Given the description of an element on the screen output the (x, y) to click on. 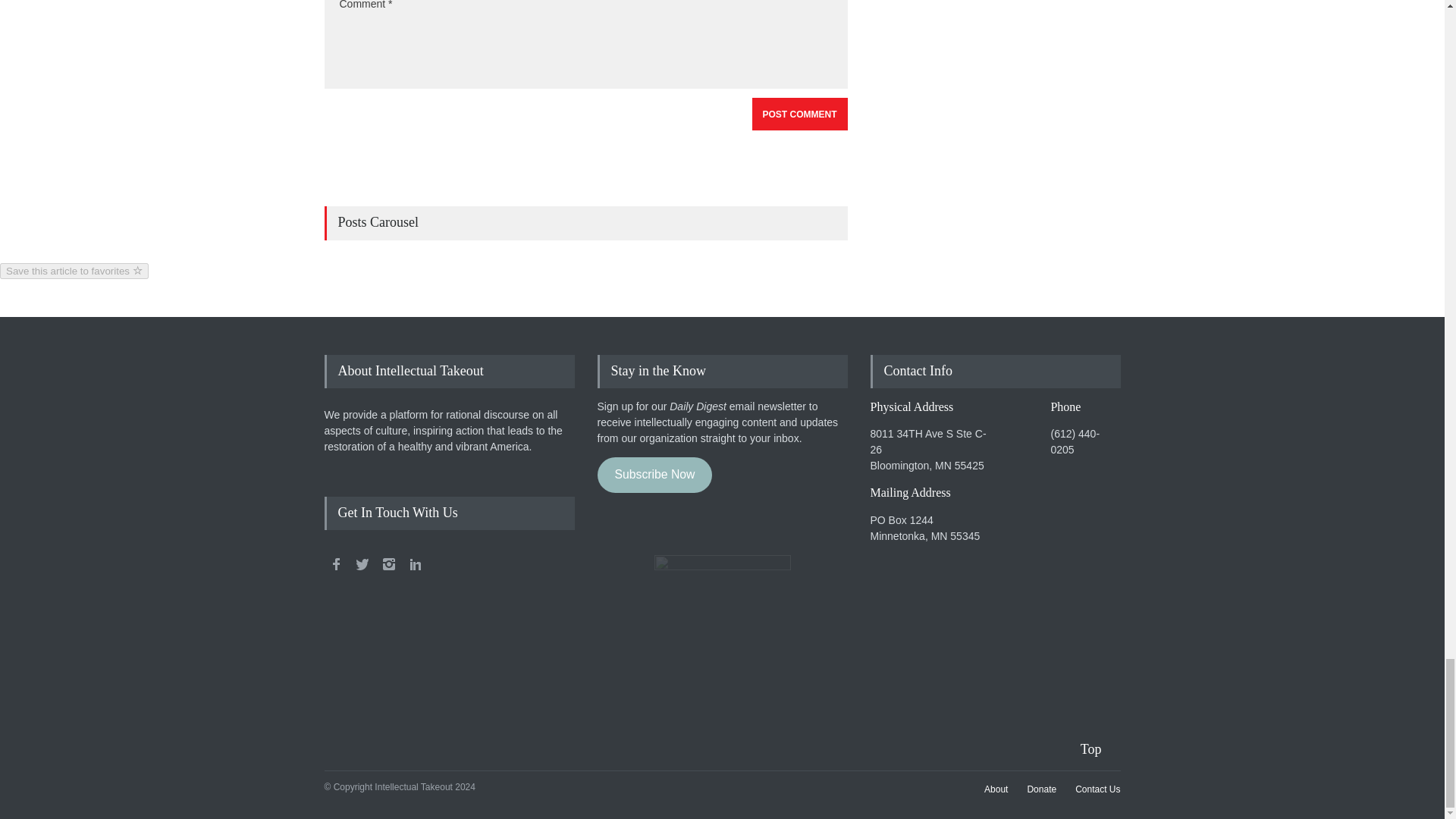
POST COMMENT (799, 113)
Top (1100, 749)
